Given the description of an element on the screen output the (x, y) to click on. 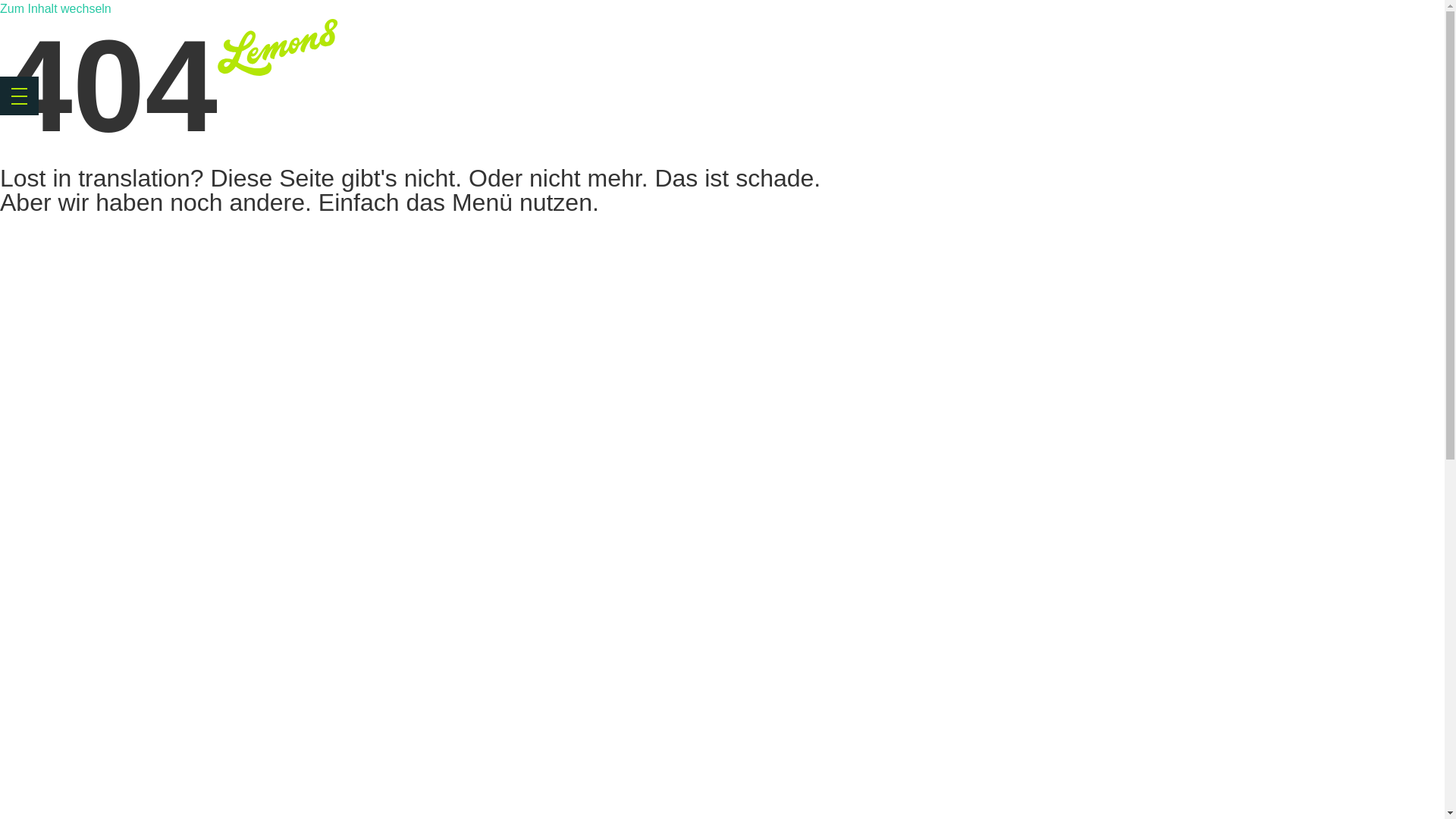
Zum Inhalt wechseln Element type: text (55, 8)
